Given the description of an element on the screen output the (x, y) to click on. 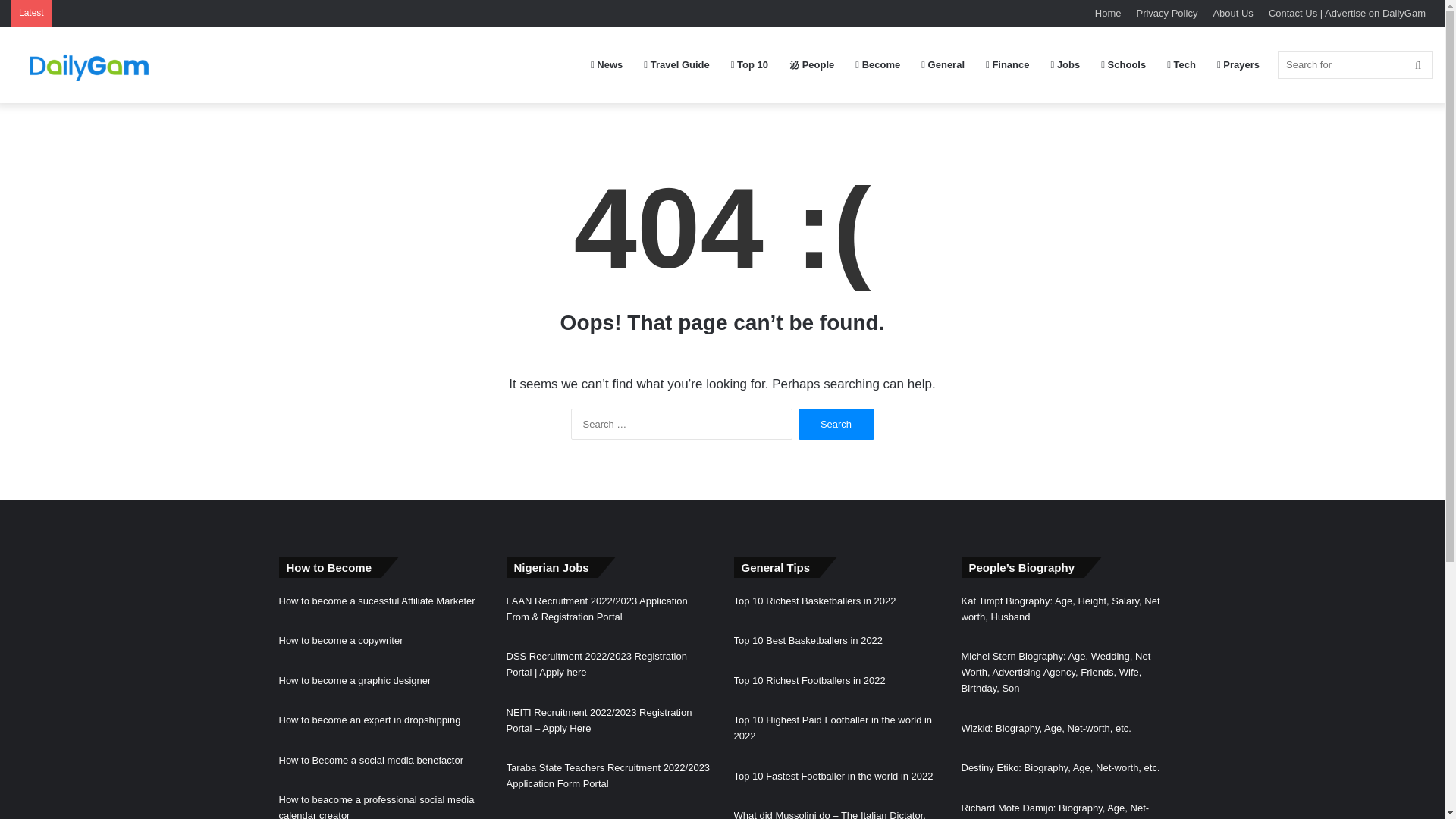
About Us (1232, 13)
Privacy Policy (1166, 13)
How to become a sucessful Affiliate Marketer (377, 600)
How to become a copywriter (341, 640)
How to become an expert in dropshipping (370, 719)
Travel Guide (676, 65)
Search (835, 423)
Search (835, 423)
How to become a graphic designer (354, 680)
Search (835, 423)
